Given the description of an element on the screen output the (x, y) to click on. 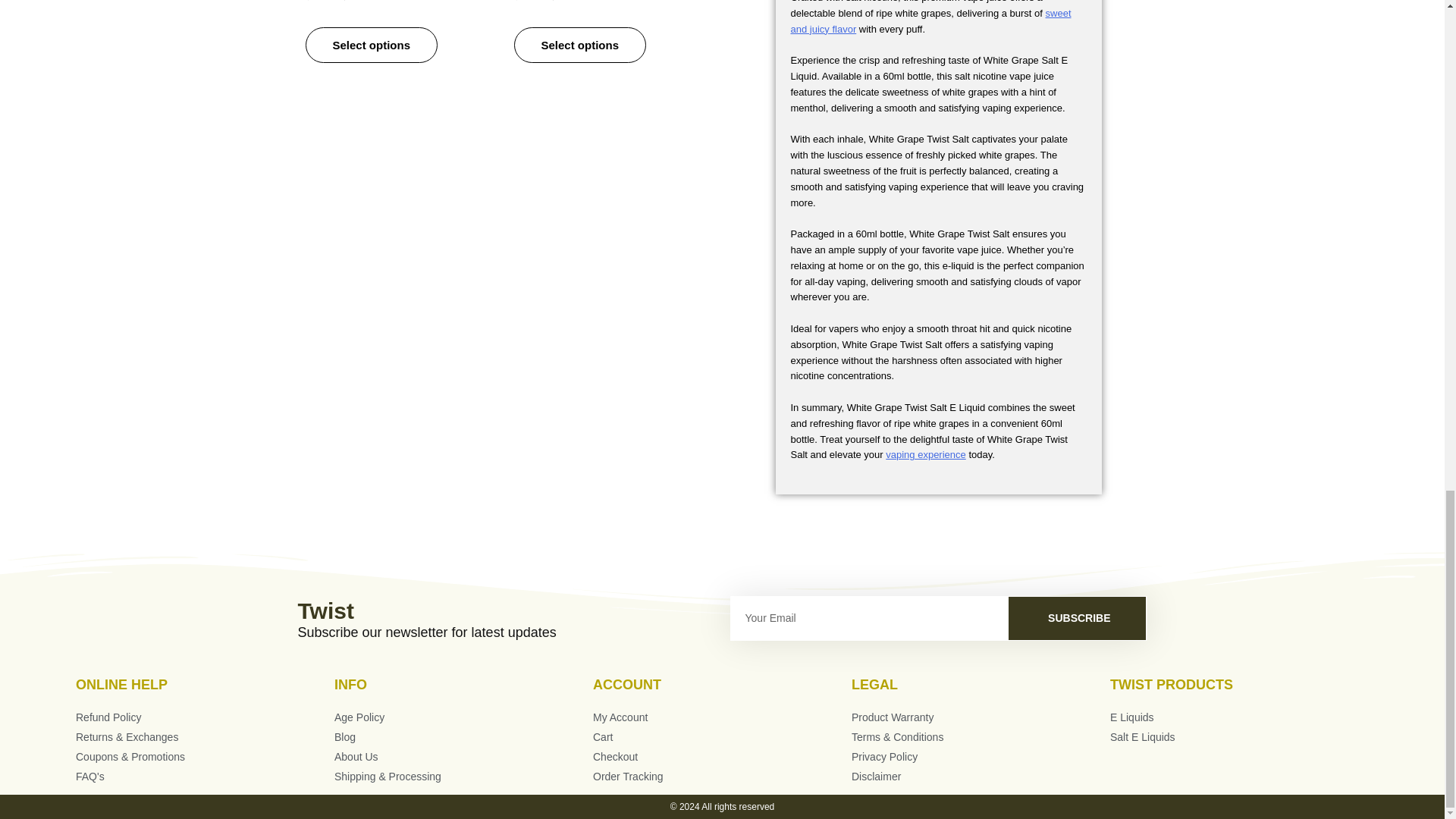
Select options (371, 45)
Select options (579, 45)
